Given the description of an element on the screen output the (x, y) to click on. 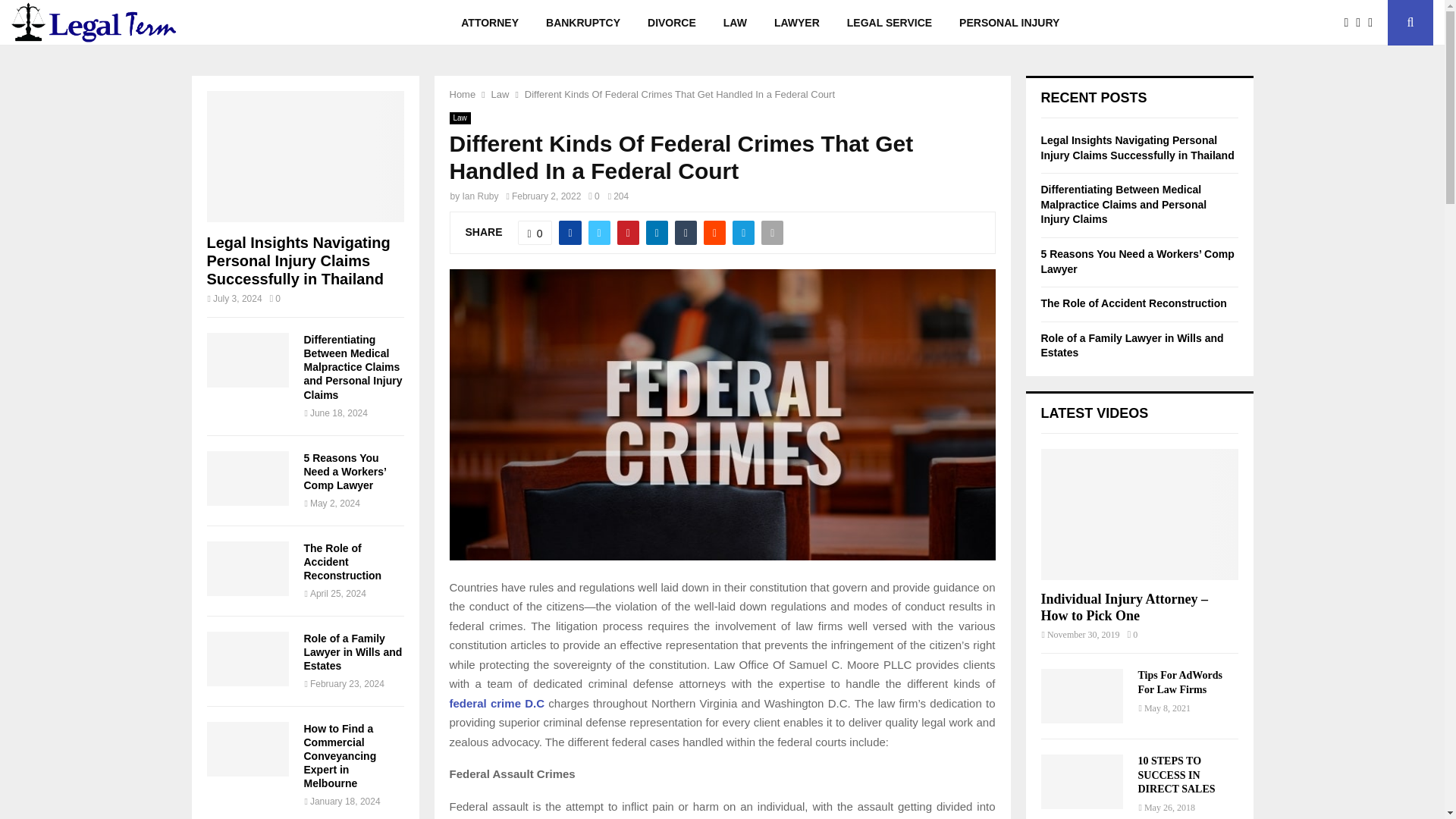
0 (535, 232)
federal crime D.C (496, 702)
LAWYER (796, 22)
PERSONAL INJURY (1008, 22)
Home (462, 93)
LAW (735, 22)
Law (500, 93)
BANKRUPTCY (582, 22)
DIVORCE (671, 22)
ATTORNEY (489, 22)
0 (593, 195)
Like (535, 232)
LEGAL SERVICE (888, 22)
Ian Ruby (481, 195)
